Given the description of an element on the screen output the (x, y) to click on. 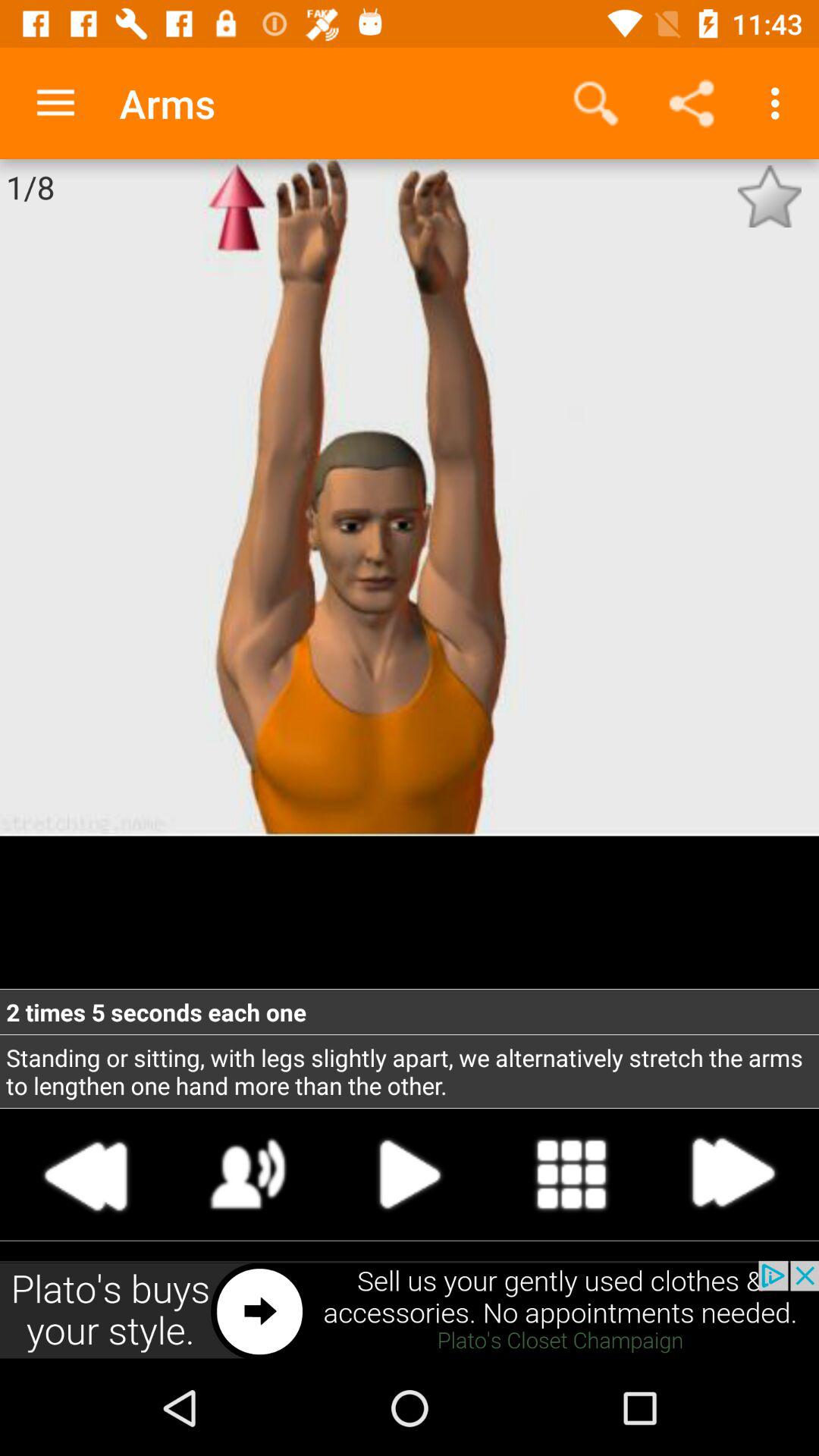
play button (409, 1174)
